Given the description of an element on the screen output the (x, y) to click on. 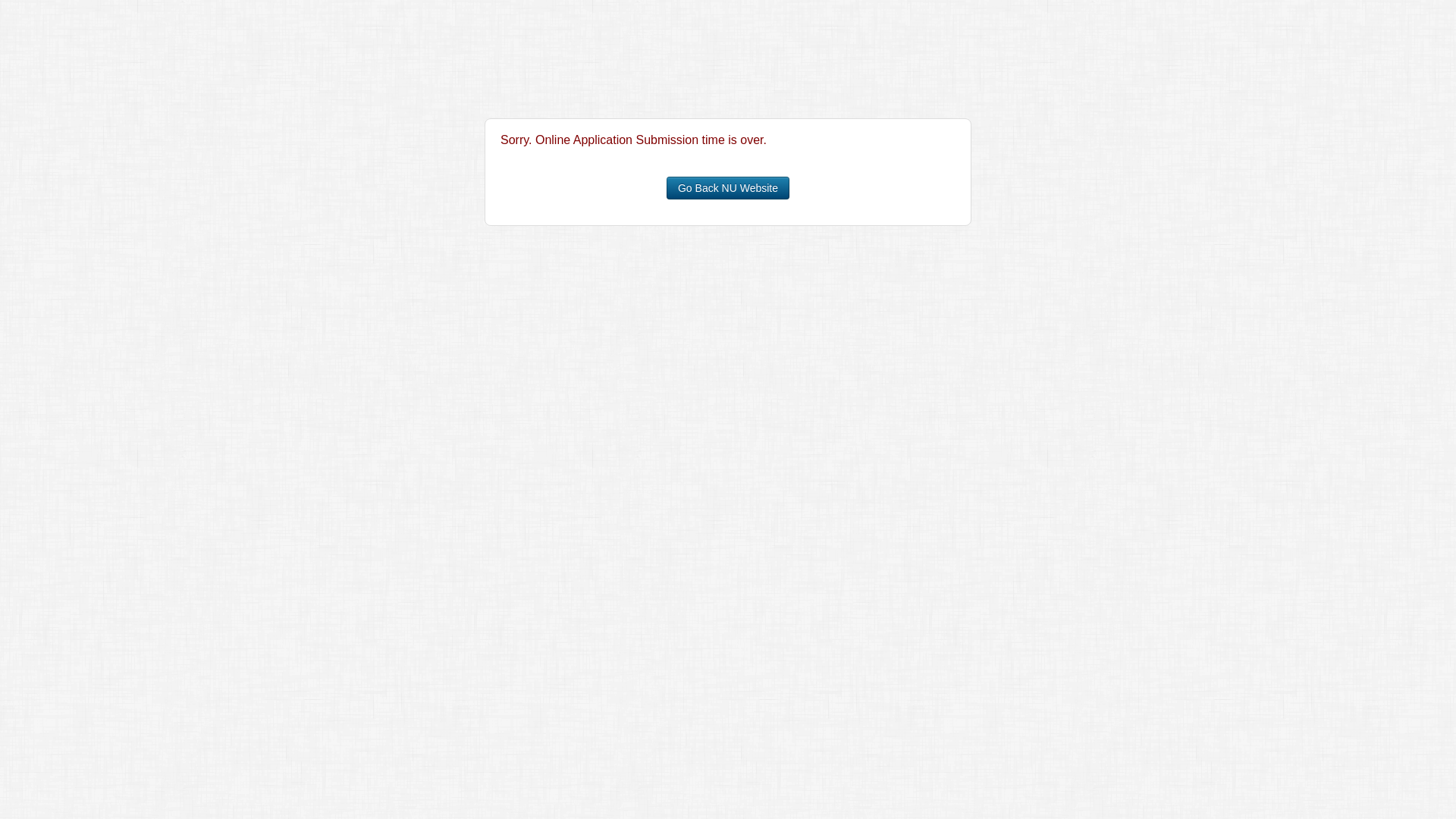
Go Back NU Website Element type: text (727, 187)
